Given the description of an element on the screen output the (x, y) to click on. 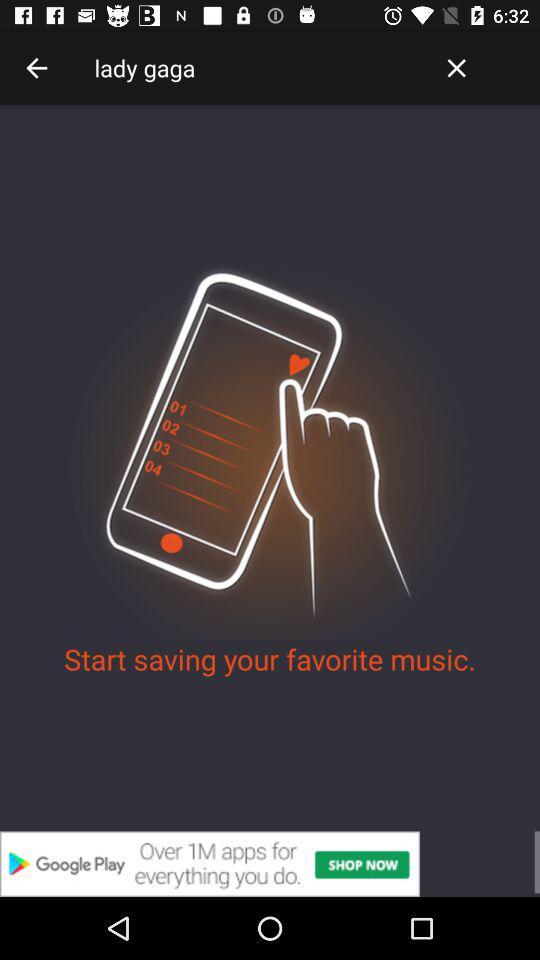
interact with advertisement (270, 864)
